Given the description of an element on the screen output the (x, y) to click on. 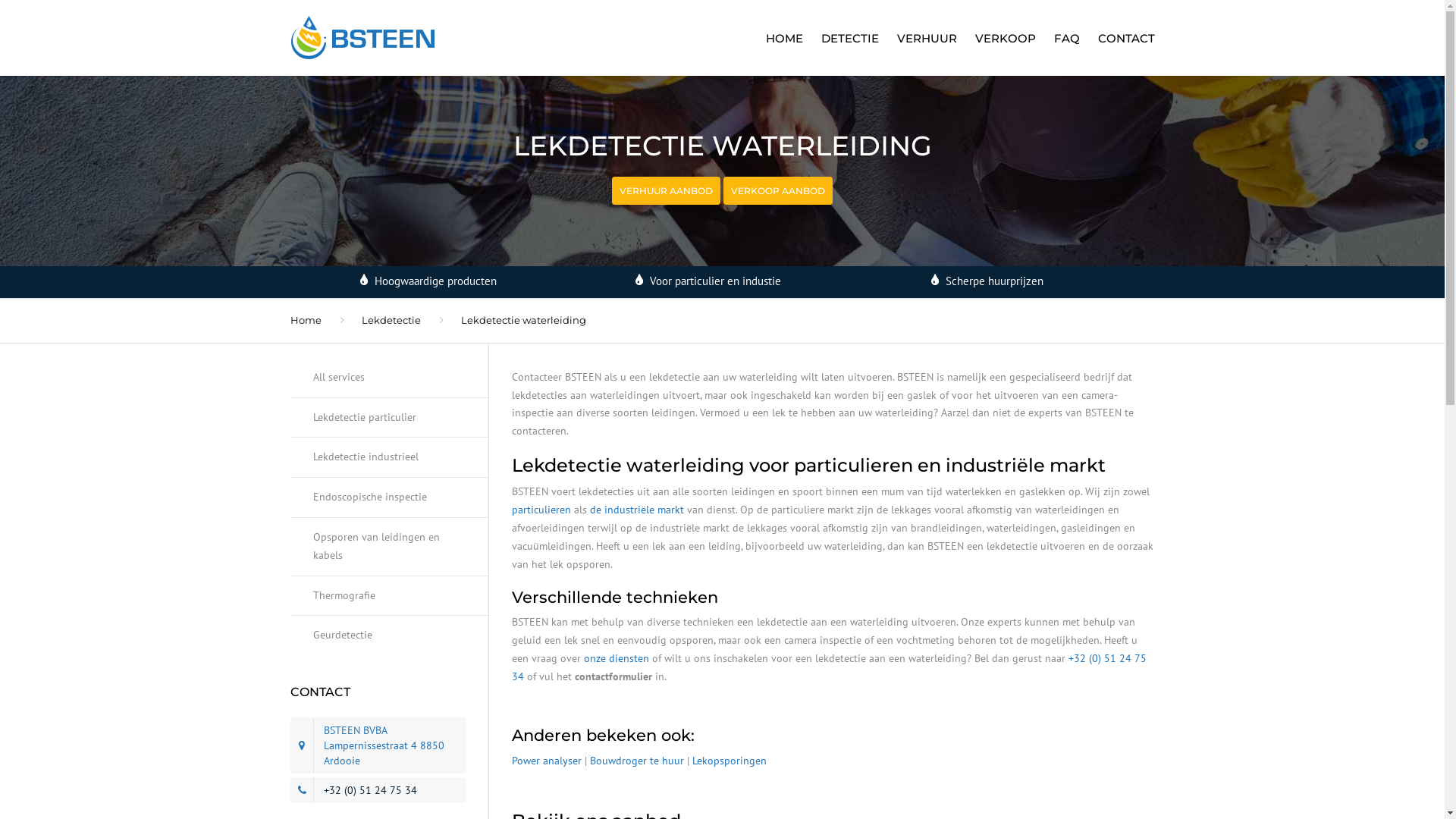
+32 (0) 51 24 75 34 Element type: text (369, 790)
FAQ Element type: text (1066, 37)
Opsporen van leidingen en kabels Element type: text (389, 546)
VERHUUR Element type: text (925, 37)
DETECTIE Element type: text (848, 37)
HOME Element type: text (784, 37)
VERKOOP AANBOD Element type: text (777, 190)
Lekdetectie particulier Element type: text (389, 418)
Geurdetectie Element type: text (389, 635)
CONTACT Element type: text (1122, 37)
All services Element type: text (389, 383)
Home Element type: text (304, 319)
Bouwdroger te huur Element type: text (636, 760)
Lekdetectie industrieel Element type: text (389, 457)
VERKOOP Element type: text (1005, 37)
Lekdetectie Element type: text (390, 319)
Lekdetectie waterleiding Element type: text (523, 319)
VERHUUR AANBOD Element type: text (665, 190)
Lekopsporingen Element type: text (729, 760)
onze diensten Element type: text (616, 658)
Thermografie Element type: text (389, 596)
+32 (0) 51 24 75 34 Element type: text (828, 667)
particulieren Element type: text (541, 509)
Endoscopische inspectie Element type: text (389, 497)
Power analyser Element type: text (546, 760)
